Given the description of an element on the screen output the (x, y) to click on. 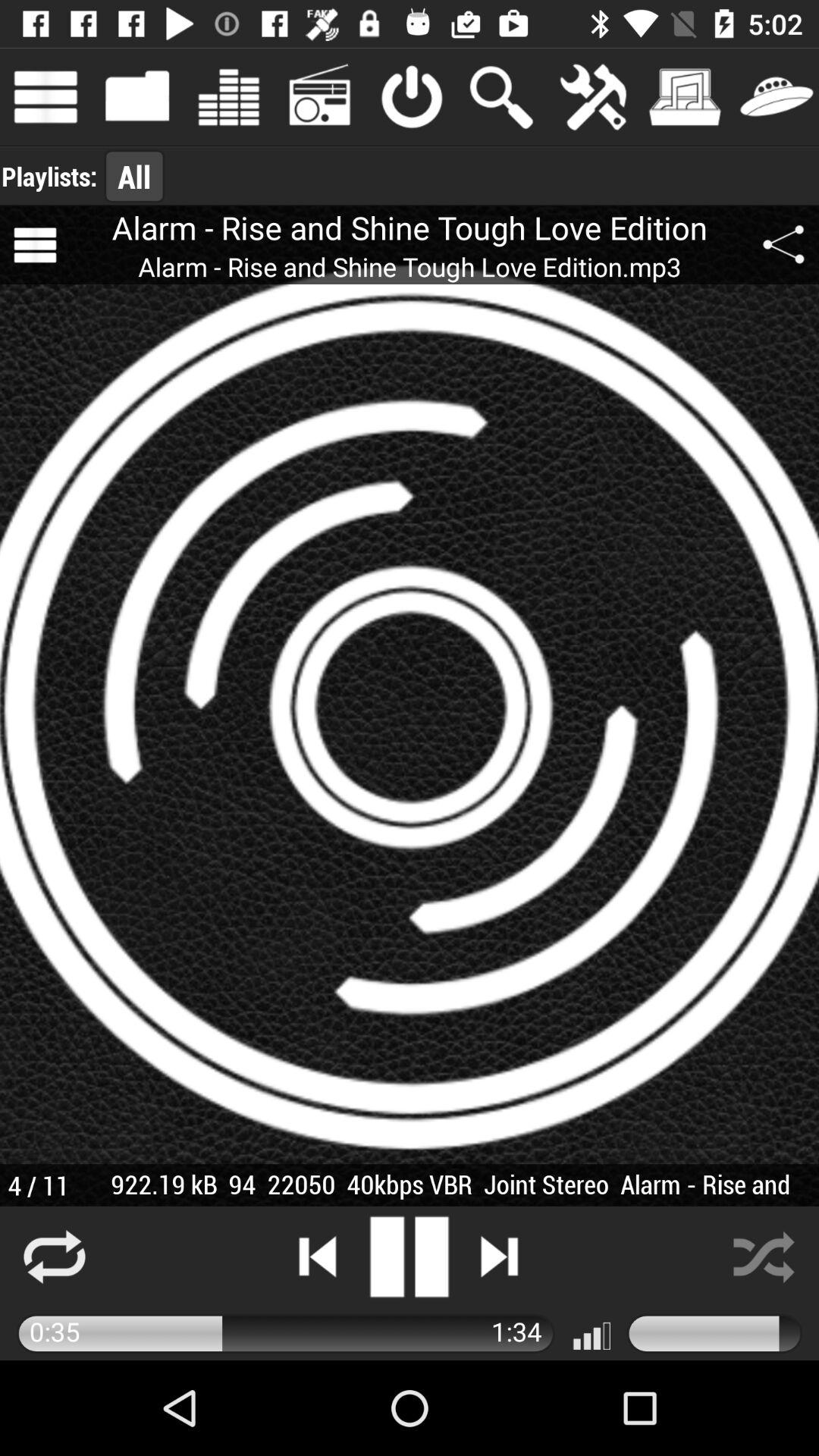
choose the 4 / 11 (38, 1185)
